Given the description of an element on the screen output the (x, y) to click on. 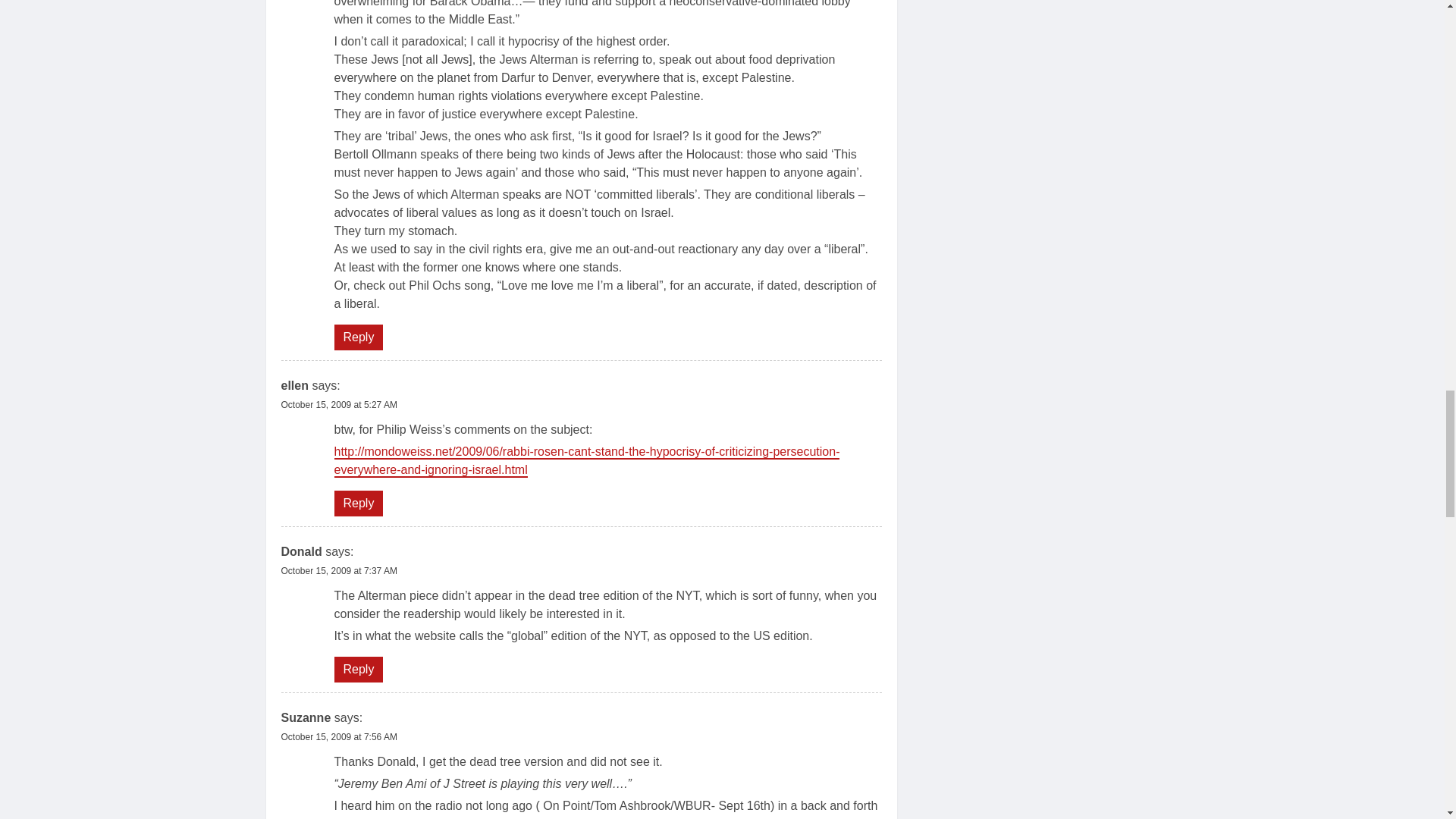
Reply (357, 337)
October 15, 2009 at 5:27 AM (338, 404)
